Given the description of an element on the screen output the (x, y) to click on. 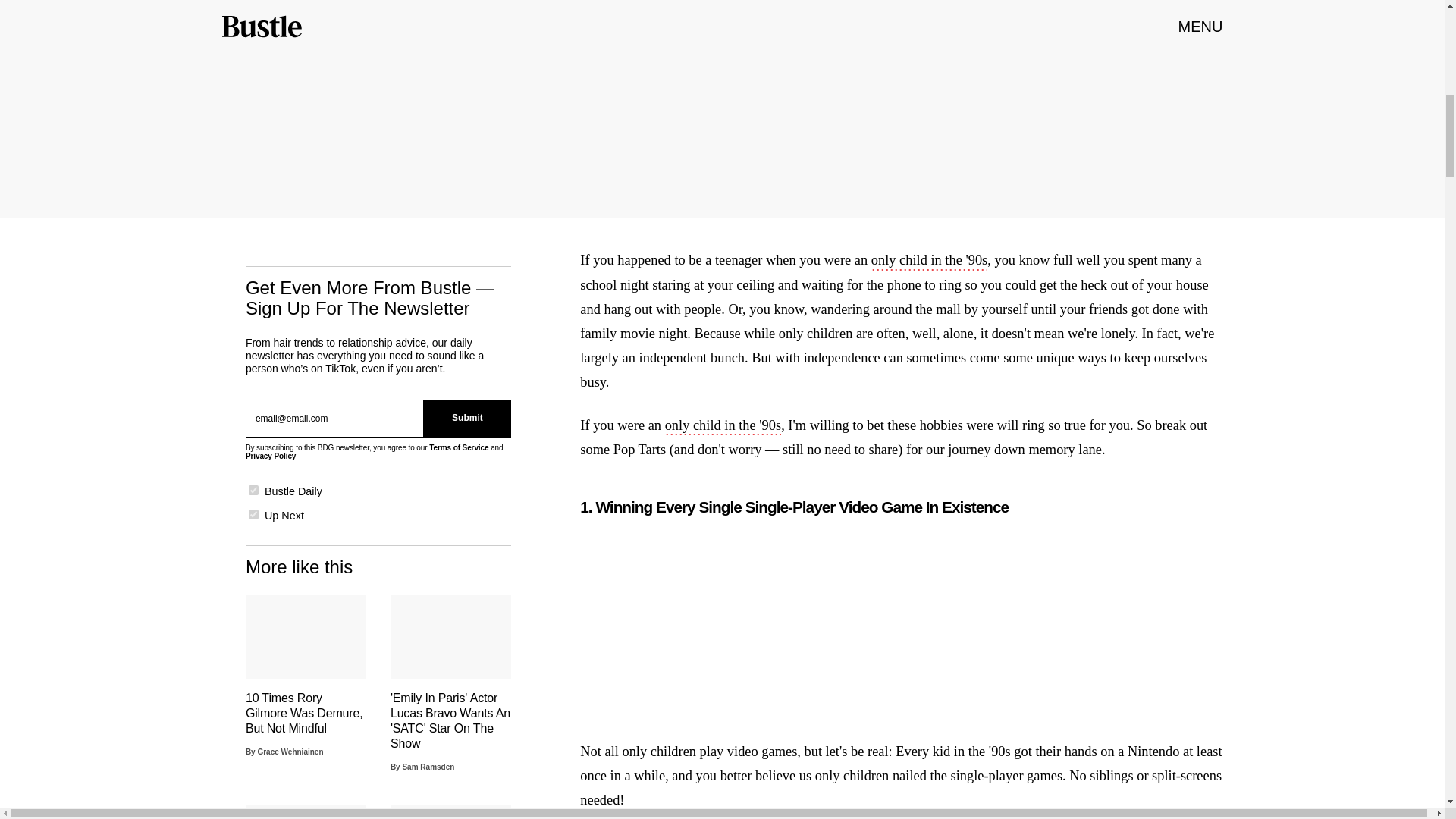
only child in the '90s (723, 426)
only child in the '90s (929, 261)
Terms of Service (458, 447)
Submit (467, 418)
Privacy Policy (270, 456)
